Given the description of an element on the screen output the (x, y) to click on. 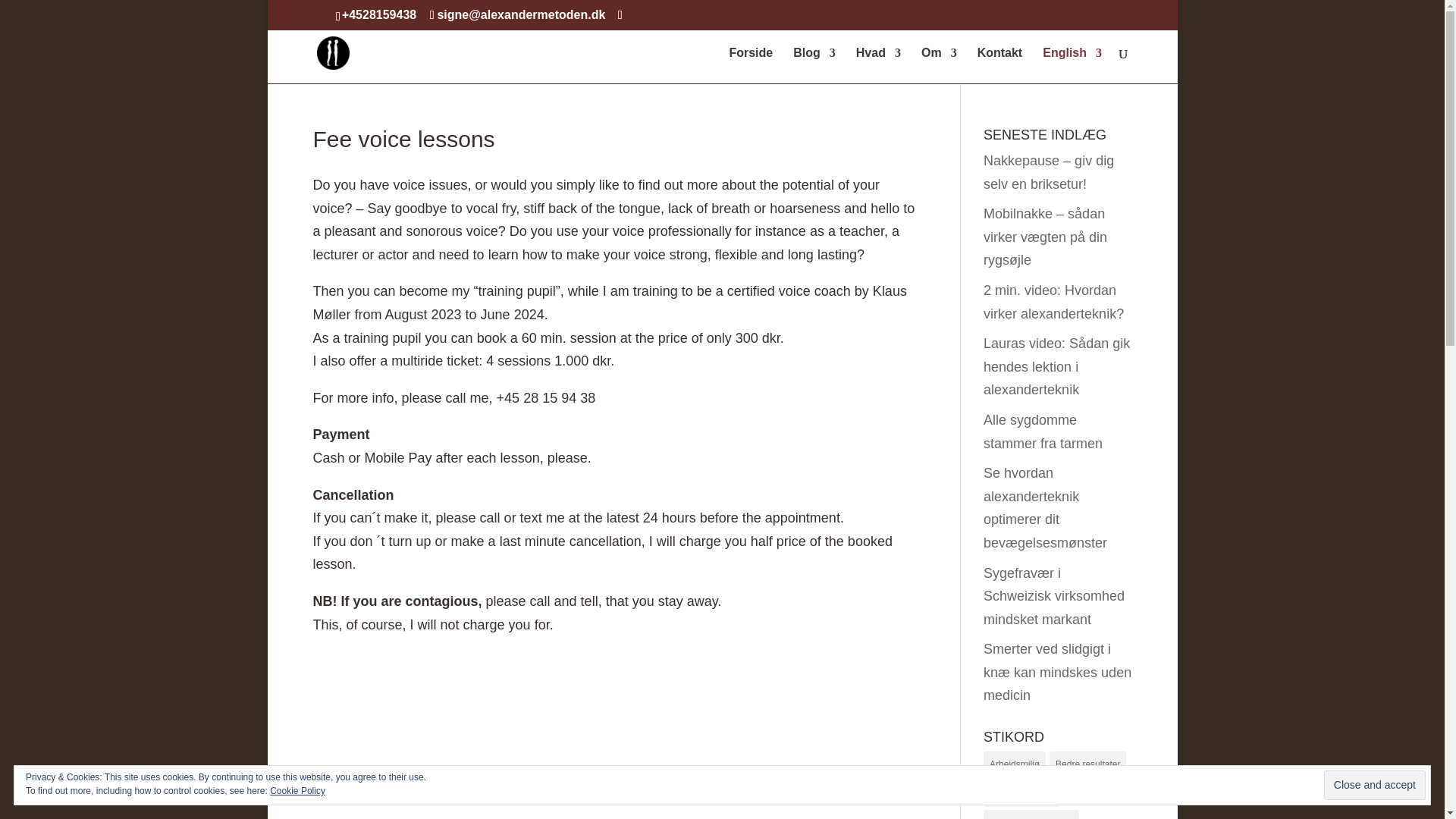
Blog (814, 65)
Forside (751, 65)
Kontakt (999, 65)
Hvad (877, 65)
Close and accept (1374, 785)
Om (938, 65)
English (1072, 65)
